Given the description of an element on the screen output the (x, y) to click on. 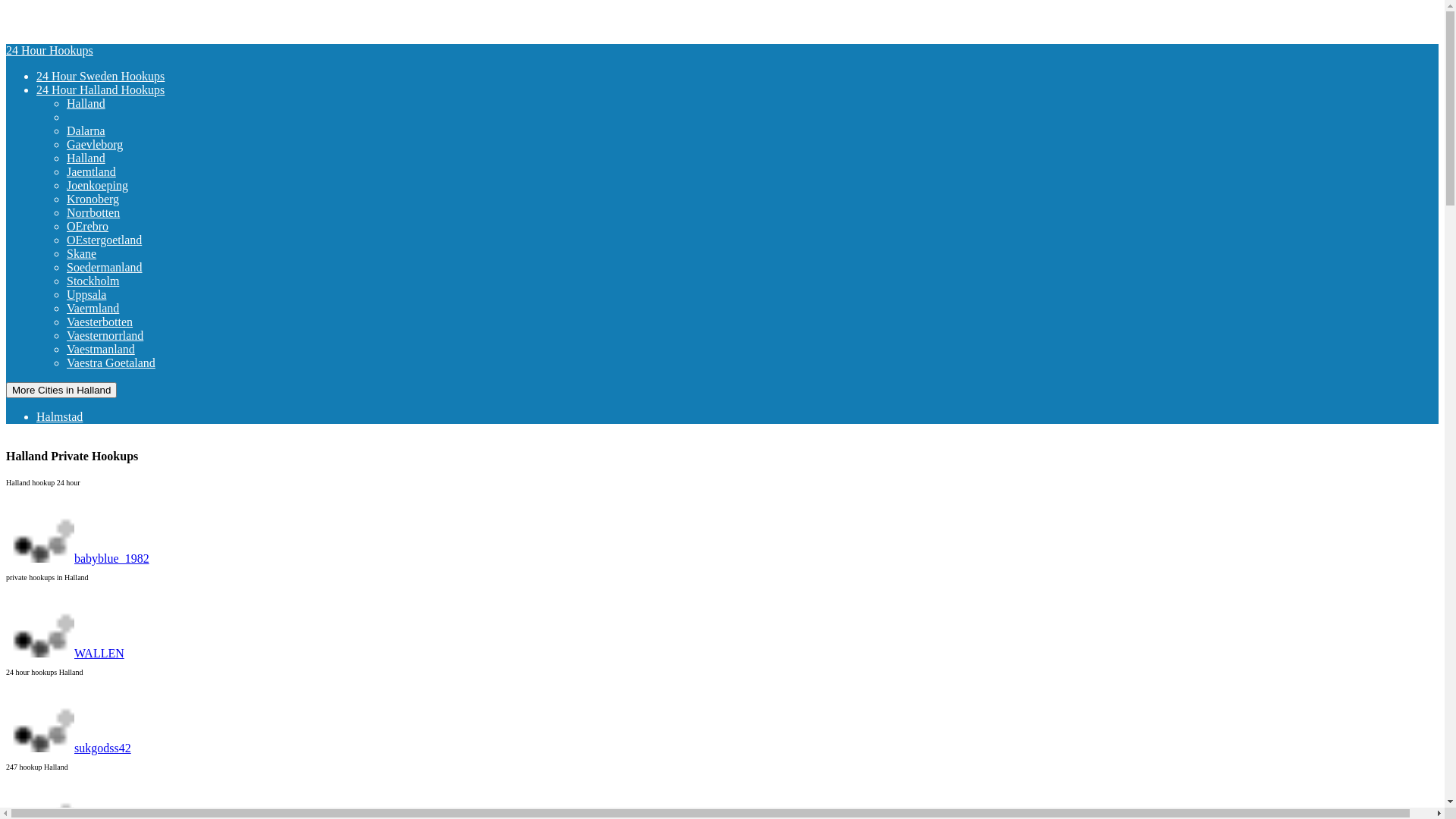
Uppsala Element type: text (112, 294)
More Cities in Halland Element type: text (61, 390)
Kronoberg Element type: text (119, 198)
Jaemtland Element type: text (117, 171)
Halland Element type: text (112, 157)
Norrbotten Element type: text (119, 212)
sukgodss42 Element type: text (68, 747)
Soedermanland Element type: text (130, 266)
Stockholm Element type: text (119, 280)
24 Hour Hookups Element type: text (49, 49)
babyblue_1982 Element type: text (77, 558)
Vaesternorrland Element type: text (131, 335)
OEstergoetland Element type: text (130, 239)
24 Hour Sweden Hookups Element type: text (100, 75)
Dalarna Element type: text (112, 130)
OErebro Element type: text (113, 225)
WALLEN Element type: text (65, 652)
Joenkoeping Element type: text (123, 184)
Skane Element type: text (107, 253)
Vaestra Goetaland Element type: text (137, 362)
Halland Element type: text (112, 103)
24 Hour Halland Hookups Element type: text (100, 89)
Gaevleborg Element type: text (120, 144)
Vaestmanland Element type: text (127, 348)
Vaesterbotten Element type: text (125, 321)
Halmstad Element type: text (85, 416)
Vaermland Element type: text (119, 307)
